Given the description of an element on the screen output the (x, y) to click on. 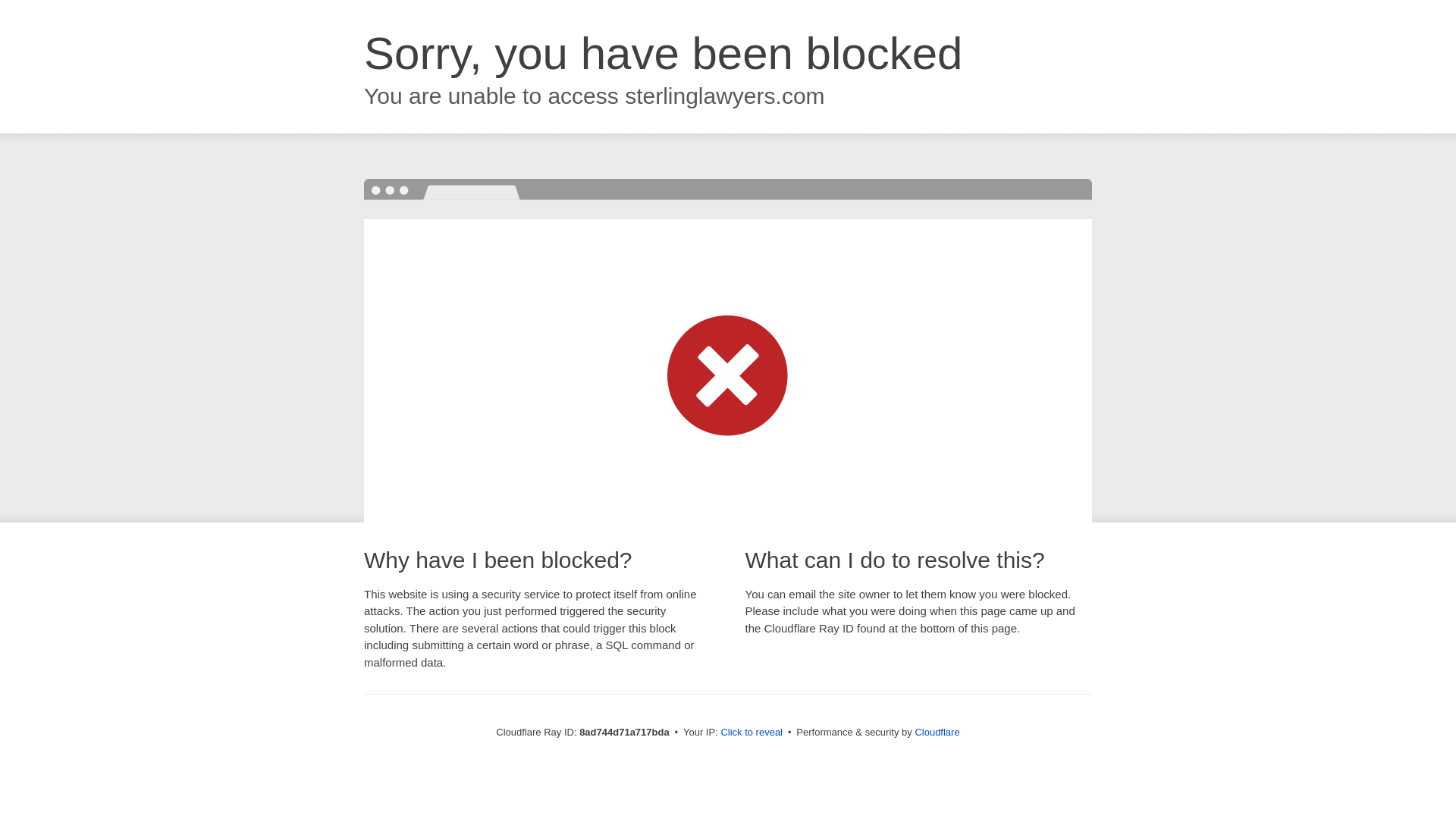
Click to reveal (751, 732)
Cloudflare (936, 731)
